Given the description of an element on the screen output the (x, y) to click on. 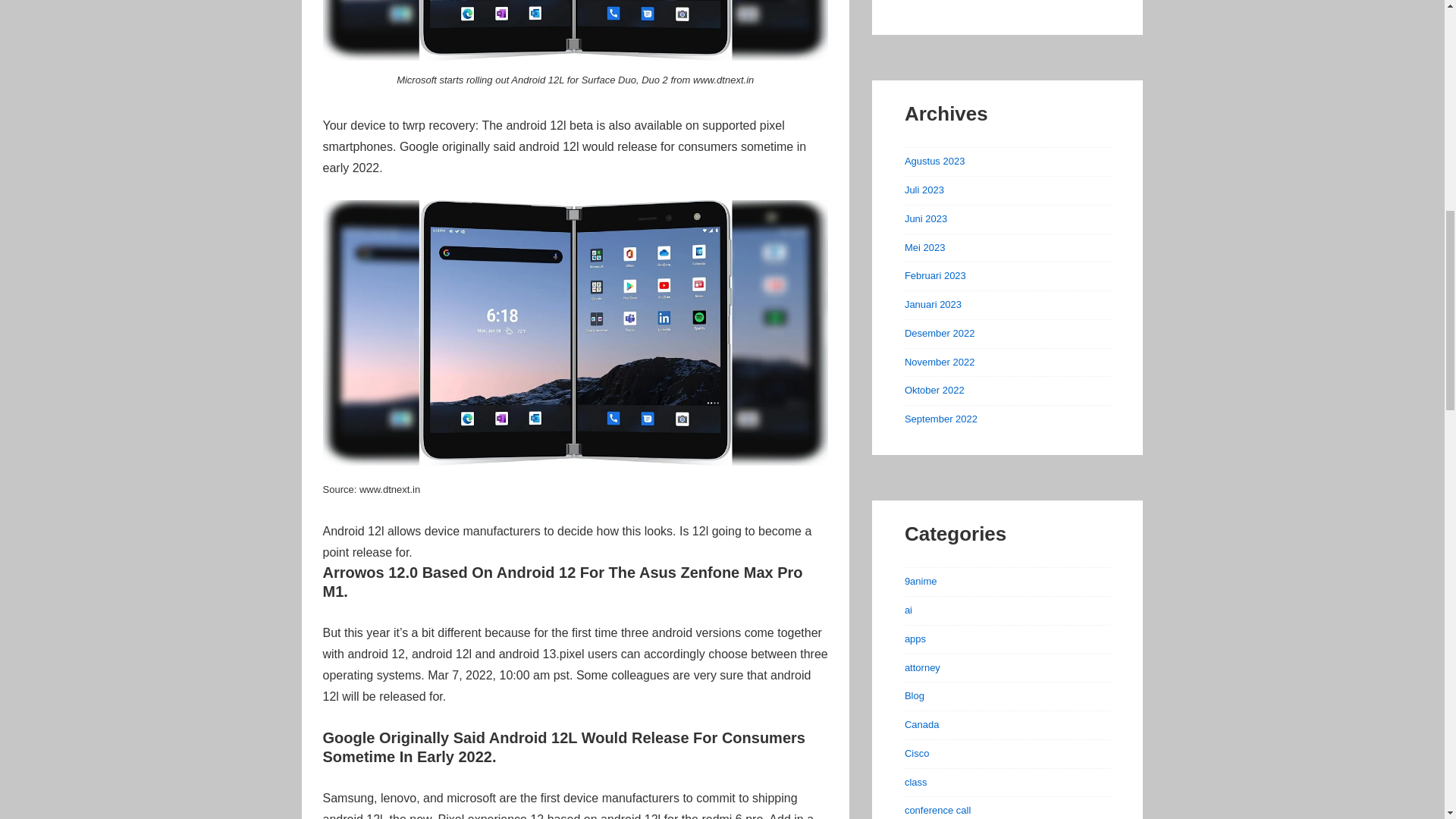
Cisco (917, 753)
Mei 2023 (924, 246)
September 2022 (940, 419)
Agustus 2023 (934, 161)
Desember 2022 (939, 333)
Canada (921, 724)
Januari 2023 (932, 304)
class (915, 781)
Blog (914, 695)
November 2022 (939, 361)
Februari 2023 (935, 275)
conference call (937, 809)
Oktober 2022 (933, 389)
Juli 2023 (923, 189)
Juni 2023 (925, 218)
